Given the description of an element on the screen output the (x, y) to click on. 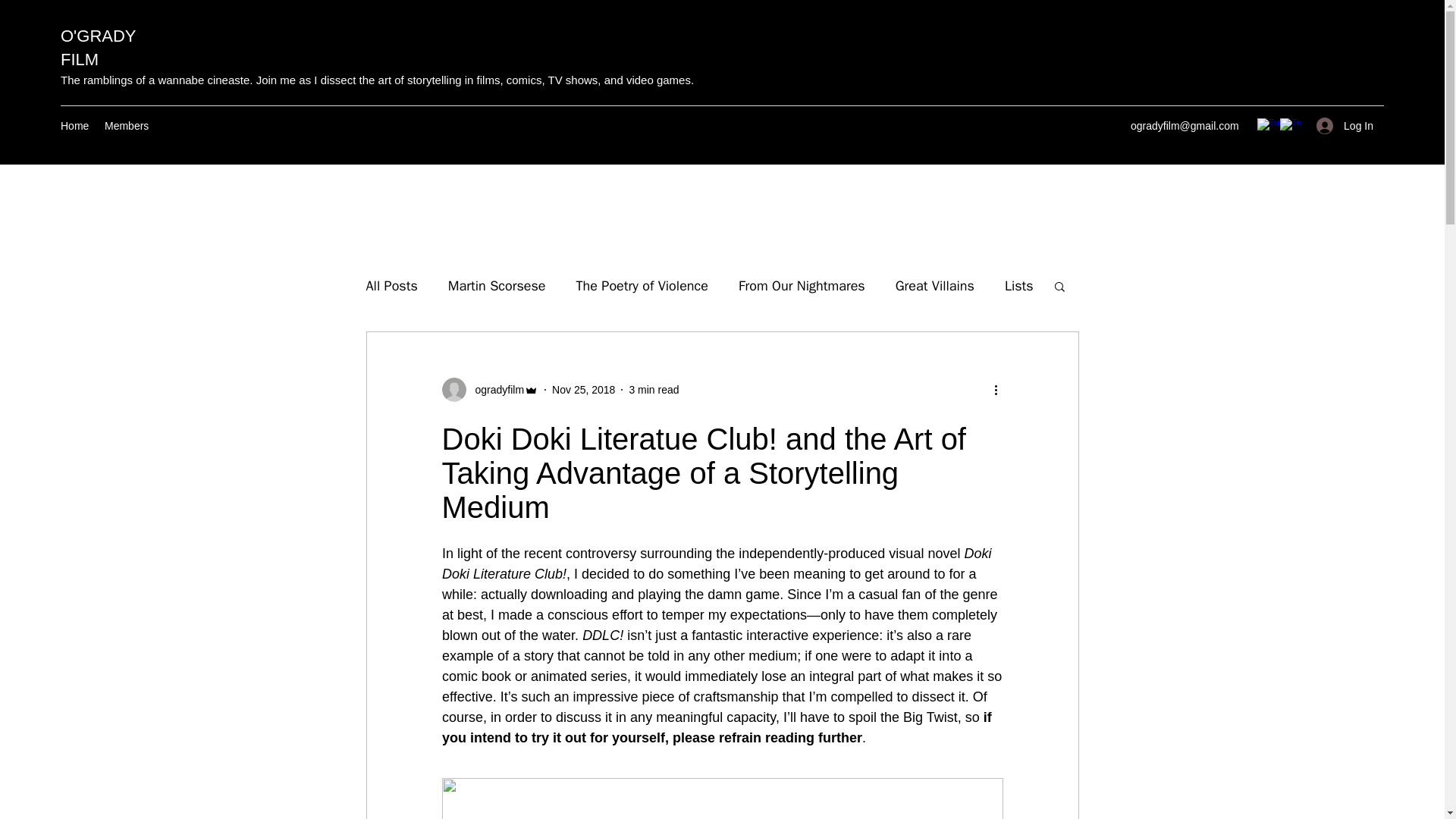
The Poetry of Violence (641, 285)
O'GRADY FILM (98, 47)
3 min read (653, 389)
Lists (1018, 285)
Log In (1345, 126)
Home (74, 125)
ogradyfilm (494, 390)
All Posts (390, 285)
ogradyfilm (489, 389)
Members (127, 125)
Martin Scorsese (497, 285)
From Our Nightmares (801, 285)
Great Villains (934, 285)
Nov 25, 2018 (582, 389)
